Given the description of an element on the screen output the (x, y) to click on. 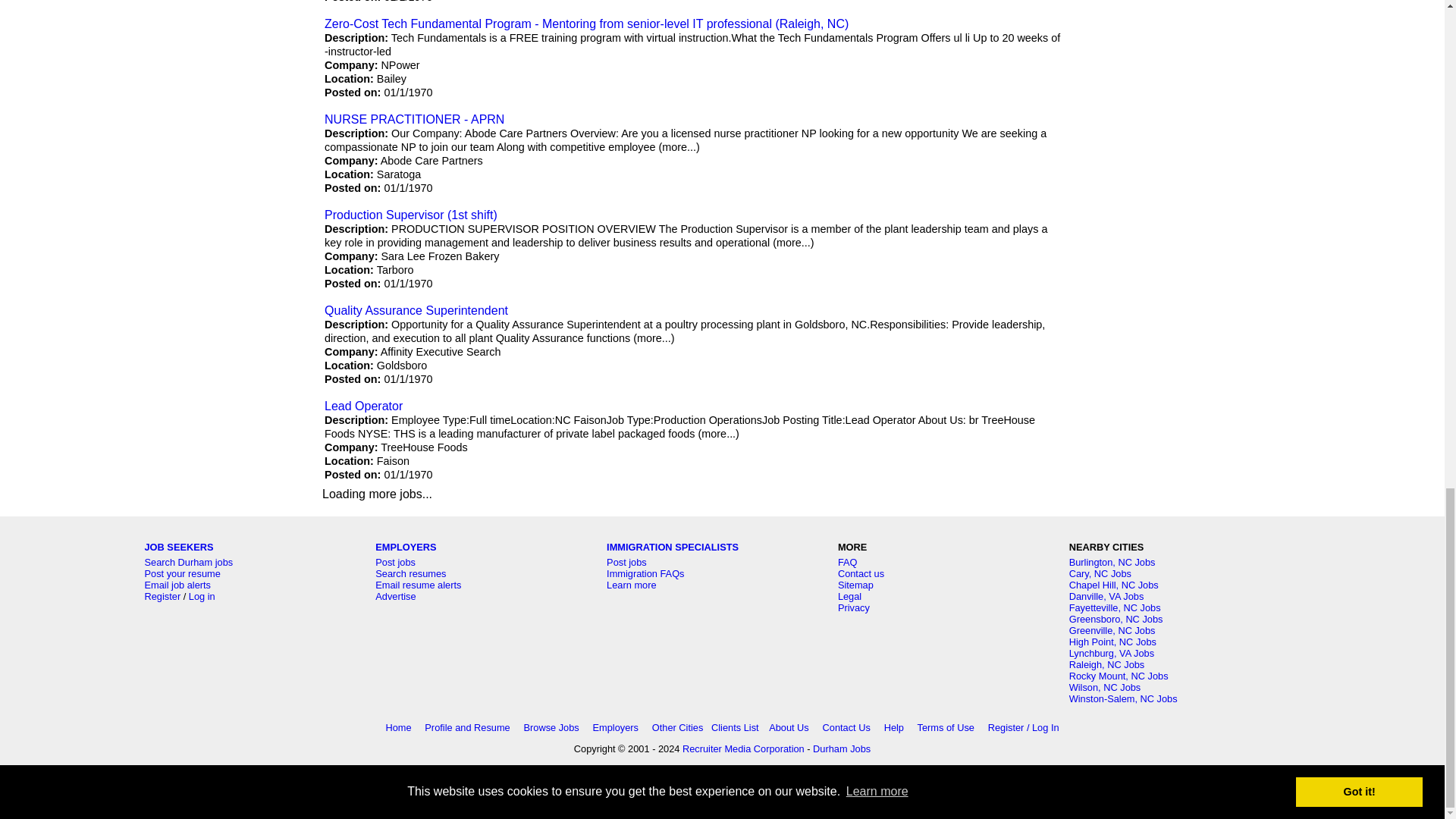
NURSE PRACTITIONER - APRN (413, 119)
Lead Operator (363, 405)
Quality Assurance Superintendent (416, 309)
